Given the description of an element on the screen output the (x, y) to click on. 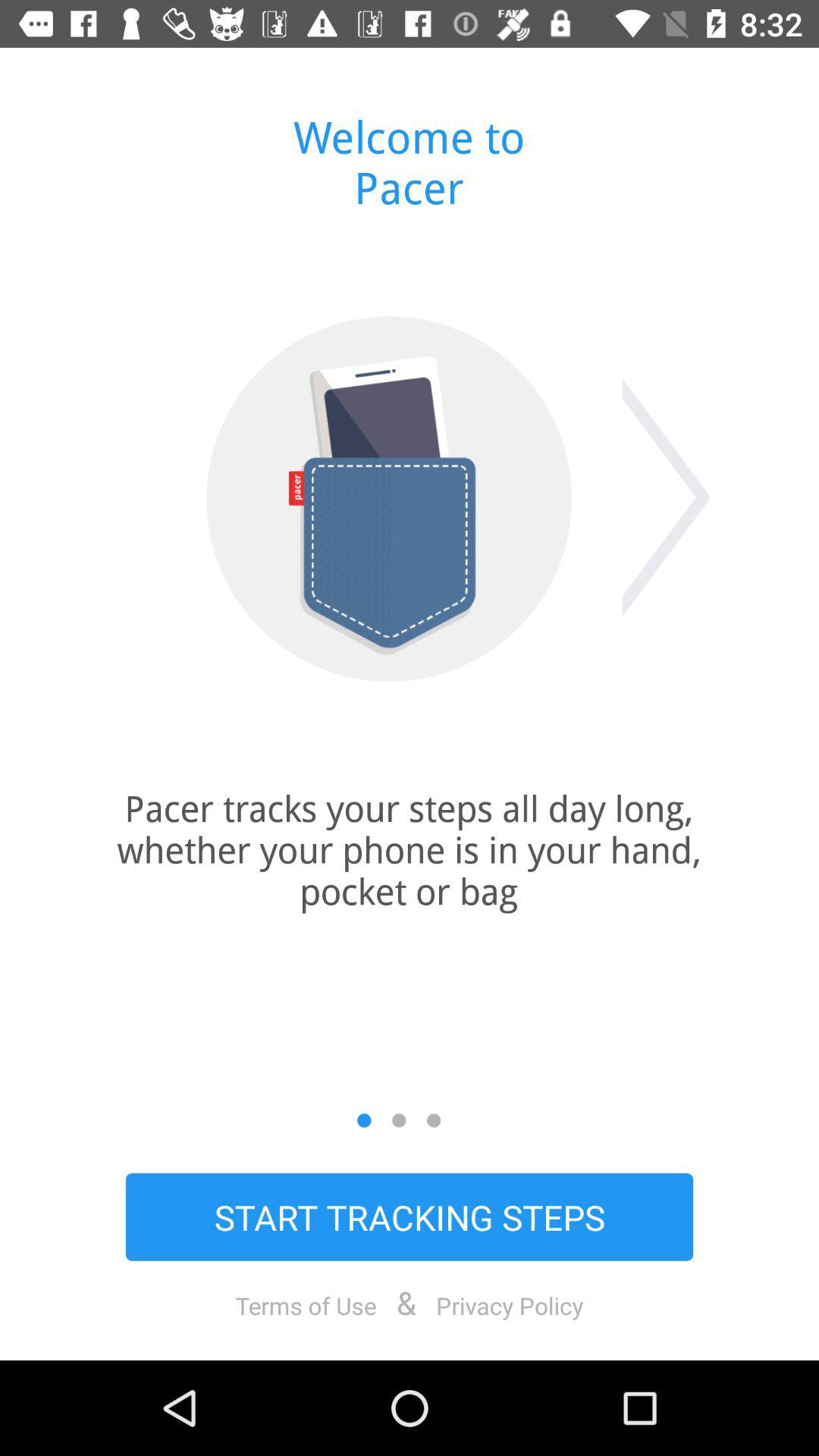
scroll until terms of use icon (305, 1305)
